Given the description of an element on the screen output the (x, y) to click on. 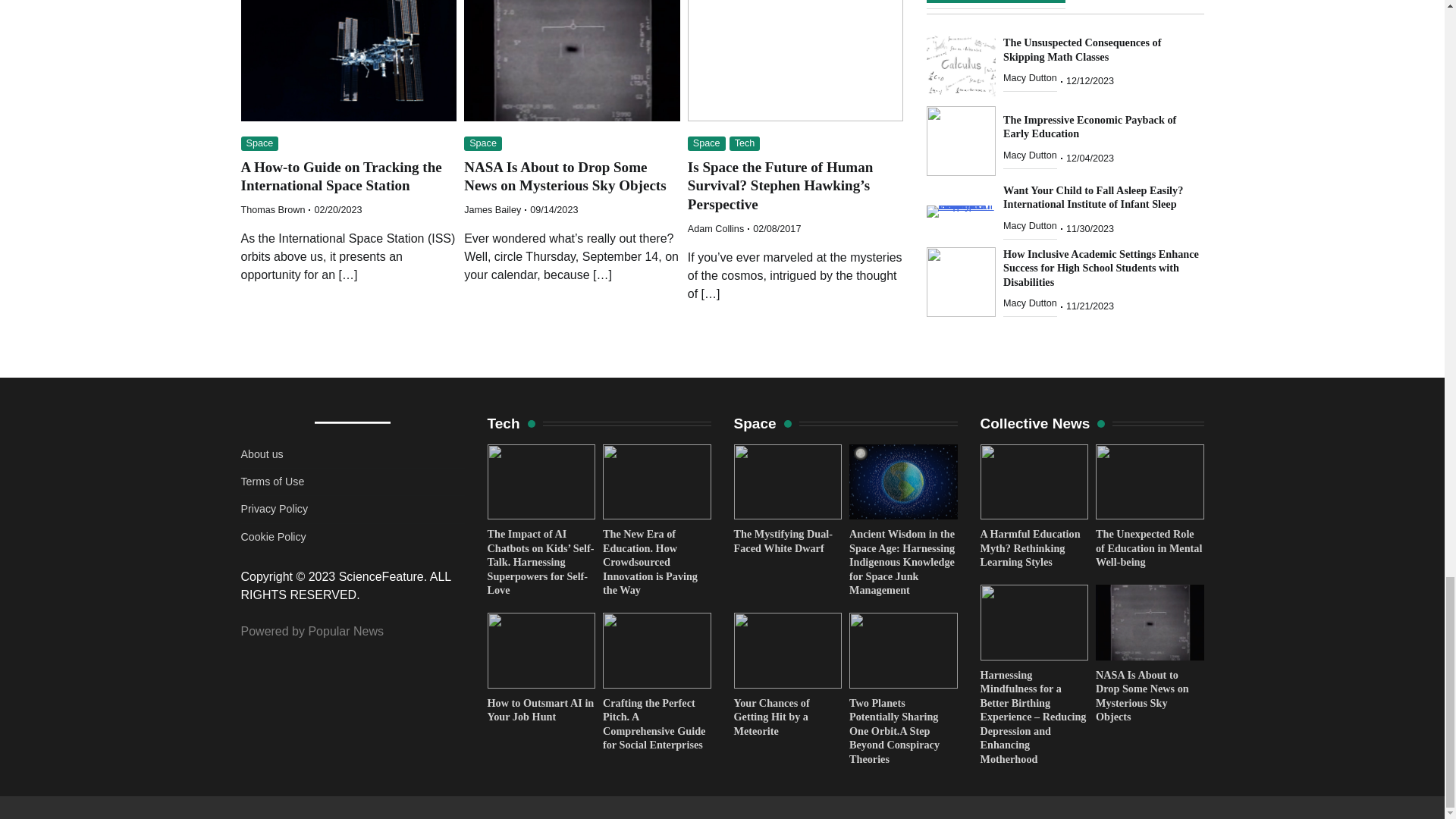
Adam Collins (715, 228)
Thomas Brown (273, 209)
Space (483, 143)
Tech (744, 143)
A How-to Guide on Tracking the International Space Station (341, 176)
Space (706, 143)
NASA Is About to Drop Some News on Mysterious Sky Objects (564, 176)
James Bailey (492, 209)
Space (260, 143)
